Given the description of an element on the screen output the (x, y) to click on. 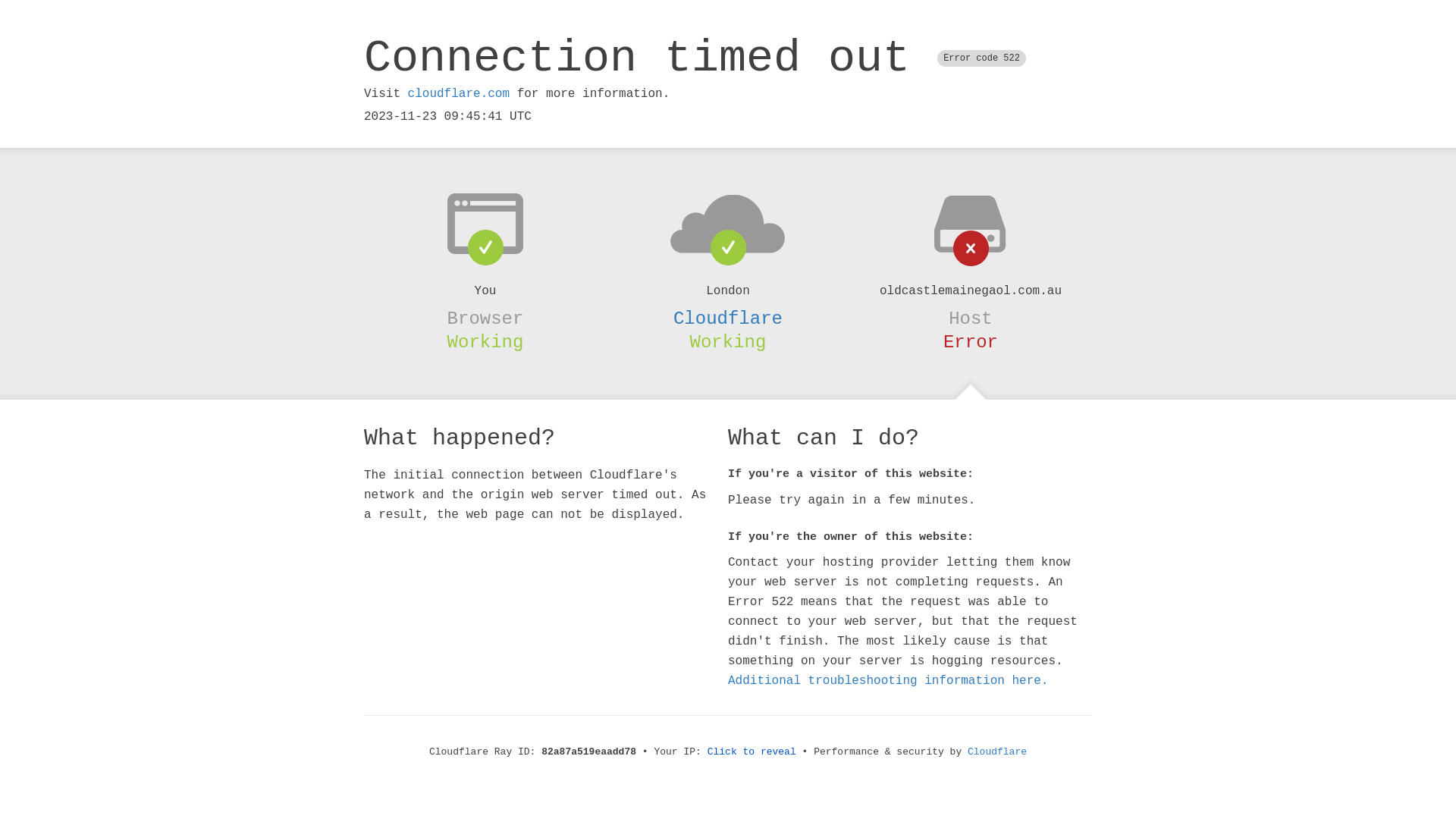
Cloudflare Element type: text (996, 751)
Cloudflare Element type: text (727, 318)
Click to reveal Element type: text (751, 751)
Additional troubleshooting information here. Element type: text (888, 680)
cloudflare.com Element type: text (458, 93)
